Given the description of an element on the screen output the (x, y) to click on. 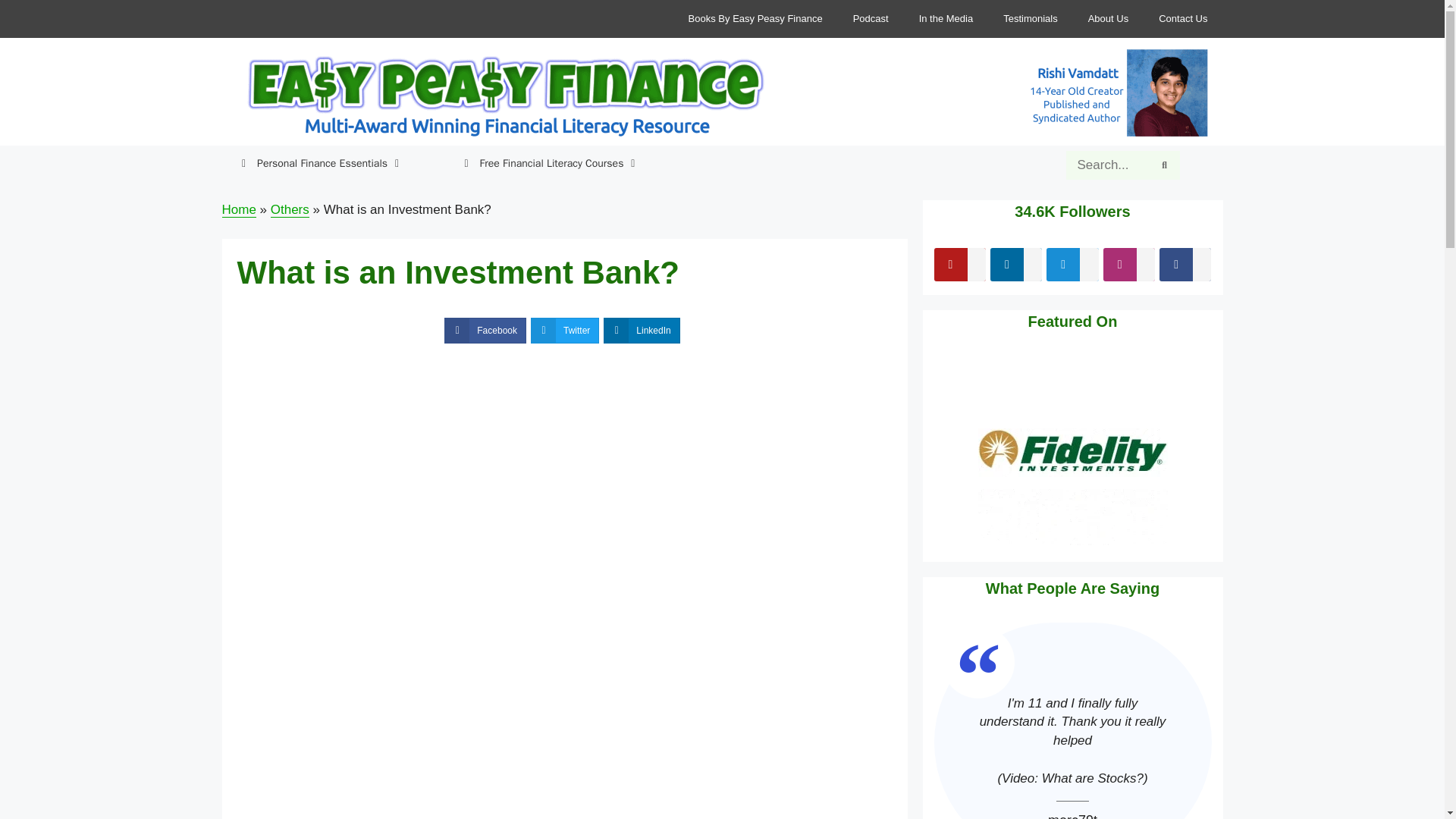
Personal Finance Essentials (313, 163)
Podcast (871, 19)
In the Media (946, 19)
Courses (466, 163)
Easy Peasy Finance for Kids and Beginners (501, 95)
Books By Easy Peasy Finance (755, 19)
Easy Peasy Finance for Kids and Beginners (501, 96)
Testimonials (1030, 19)
Contact Us (1182, 19)
